Given the description of an element on the screen output the (x, y) to click on. 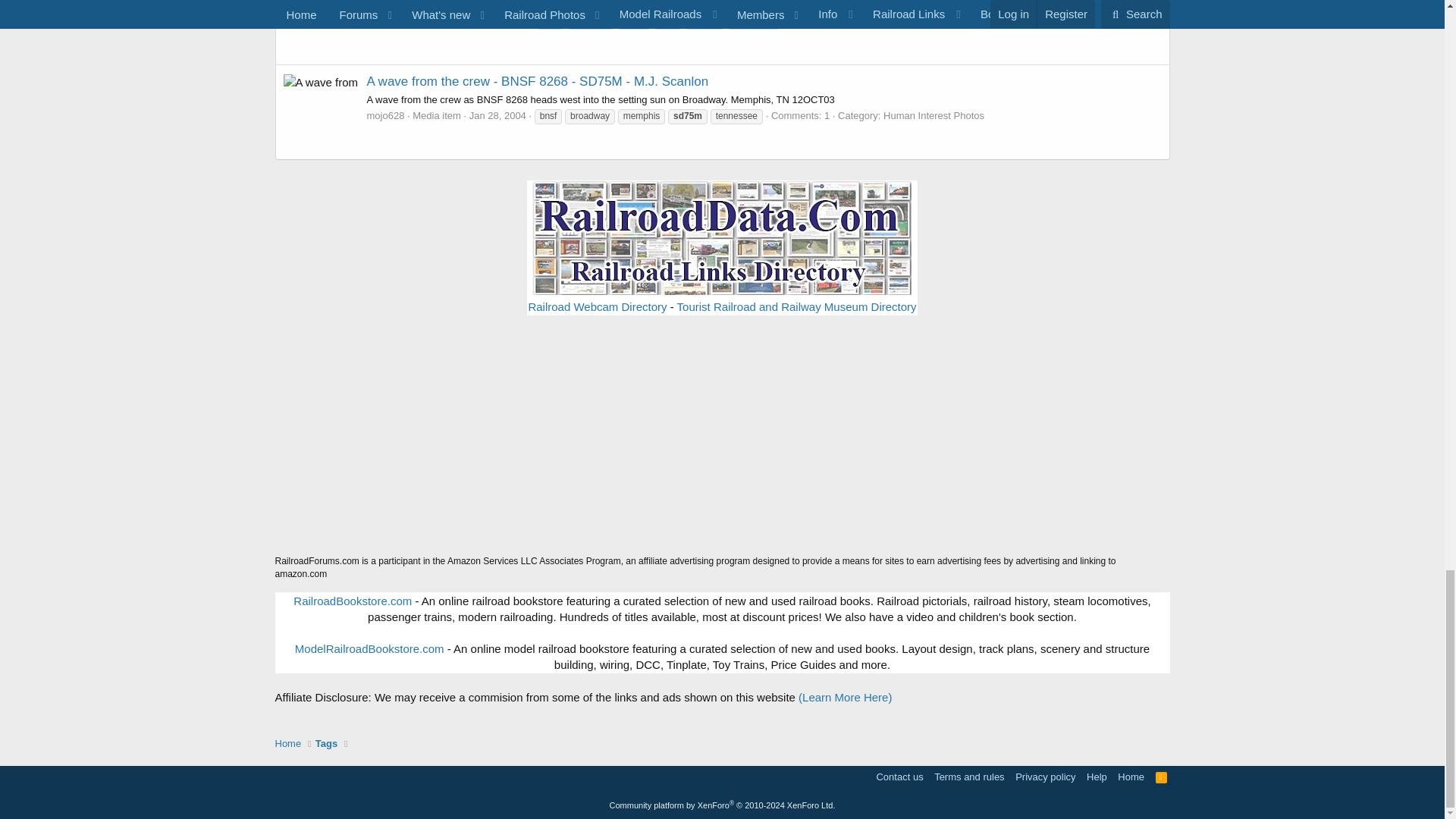
Jan 28, 2004 at 6:18 PM (496, 115)
Feb 20, 2005 at 2:34 PM (499, 20)
